Given the description of an element on the screen output the (x, y) to click on. 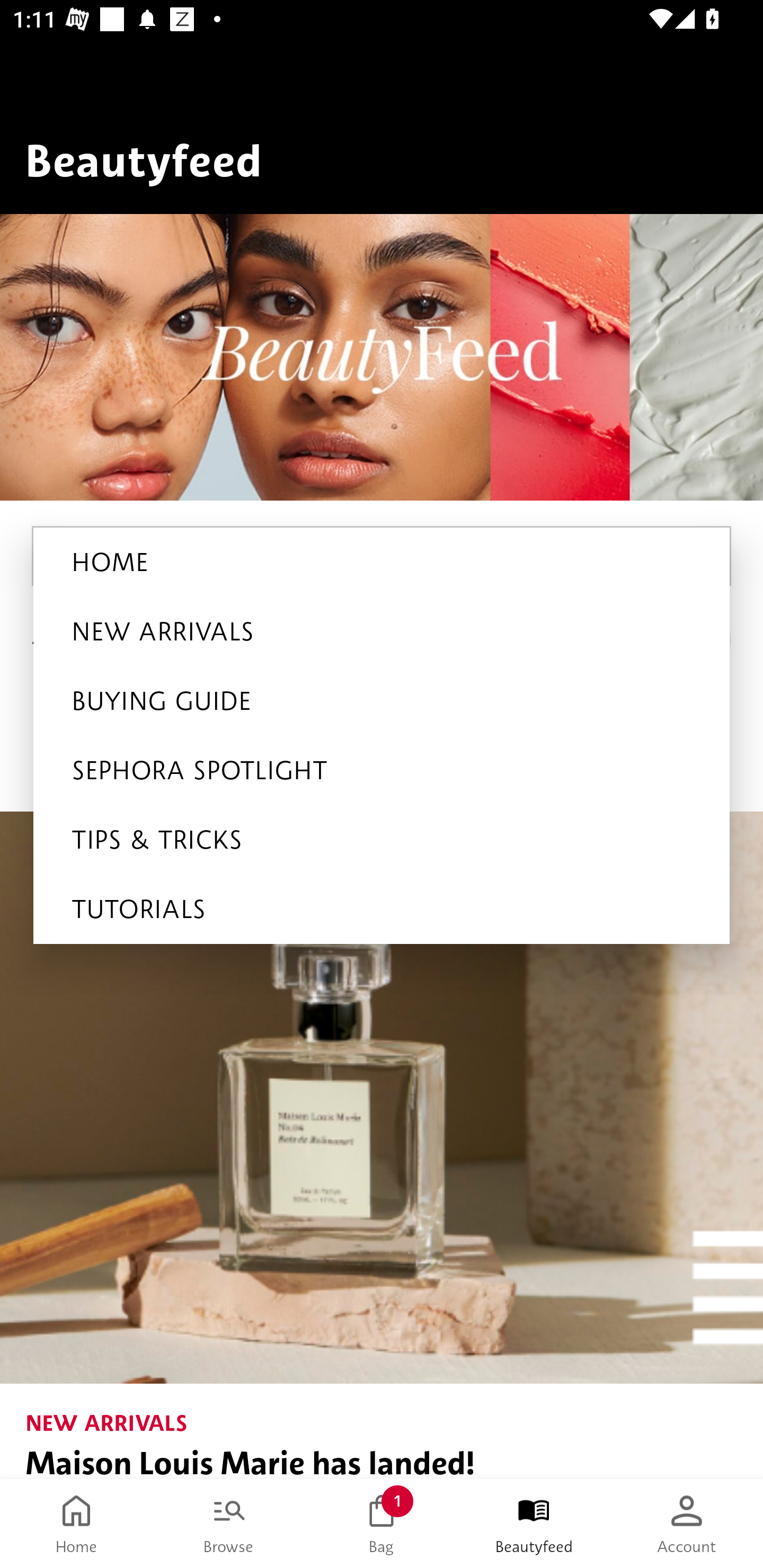
HOME (381, 561)
NEW ARRIVALS (381, 631)
BUYING GUIDE (381, 700)
SEPHORA SPOTLIGHT (381, 770)
TIPS & TRICKS (381, 839)
TUTORIALS (381, 908)
